Given the description of an element on the screen output the (x, y) to click on. 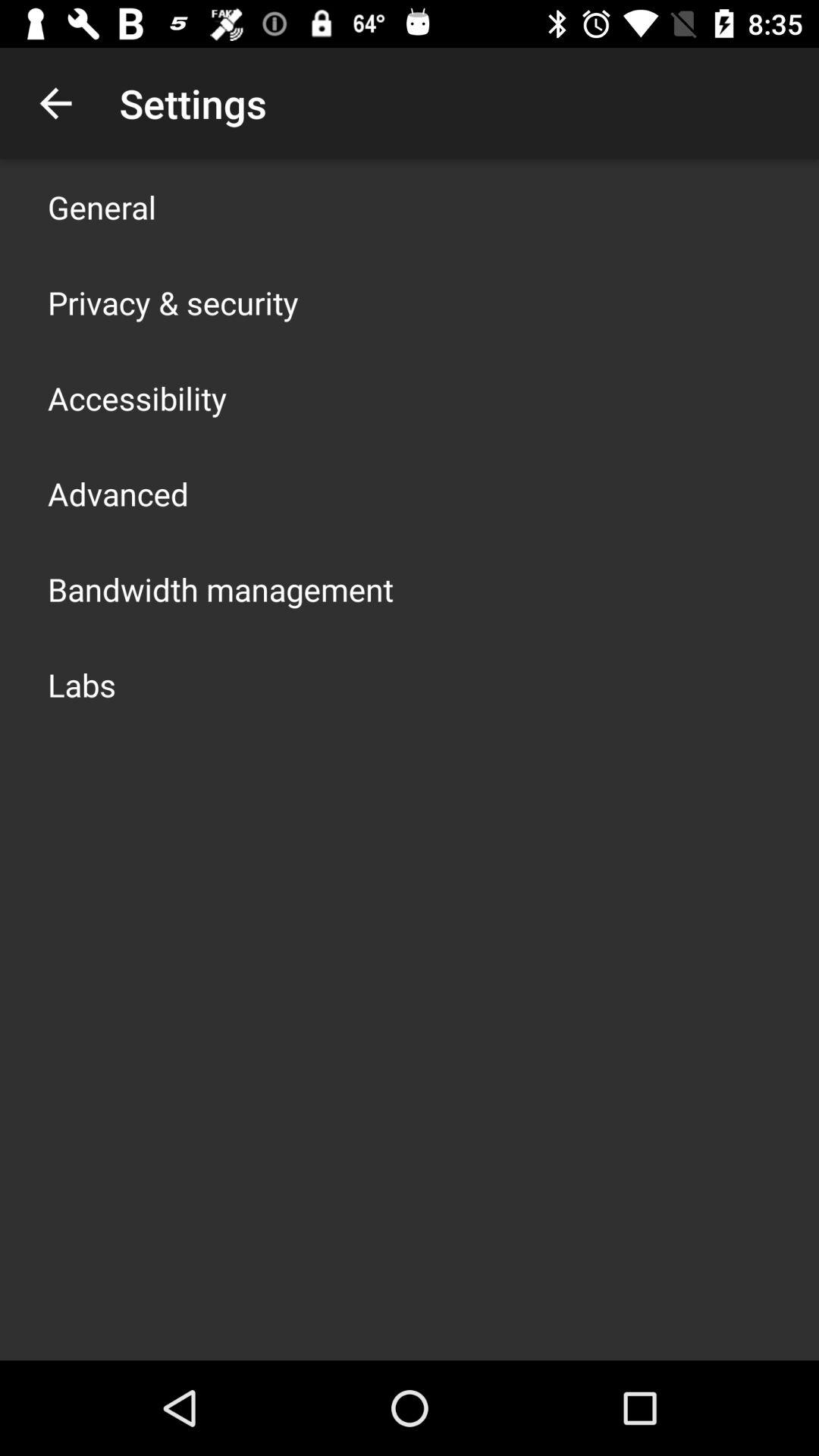
press general item (101, 206)
